Given the description of an element on the screen output the (x, y) to click on. 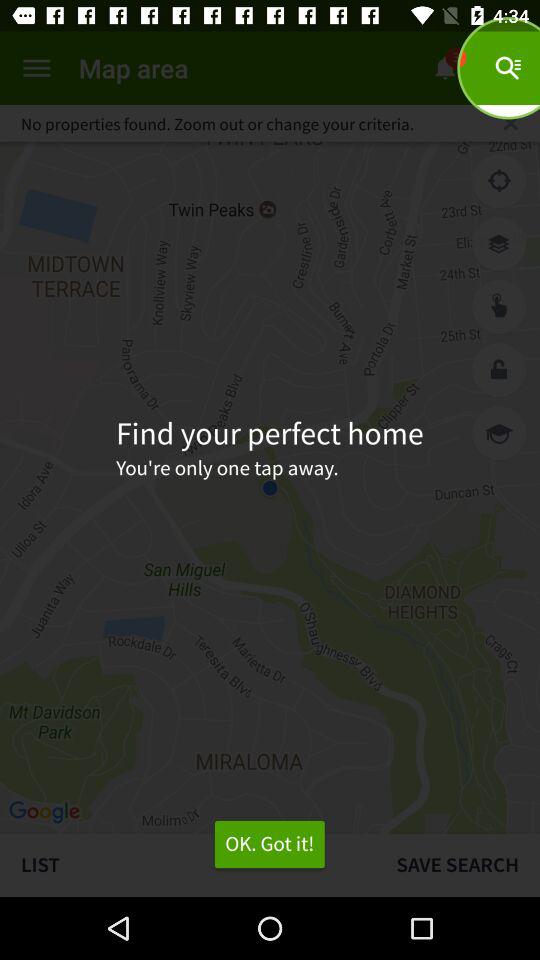
turn off the ok. got it! icon (269, 844)
